Given the description of an element on the screen output the (x, y) to click on. 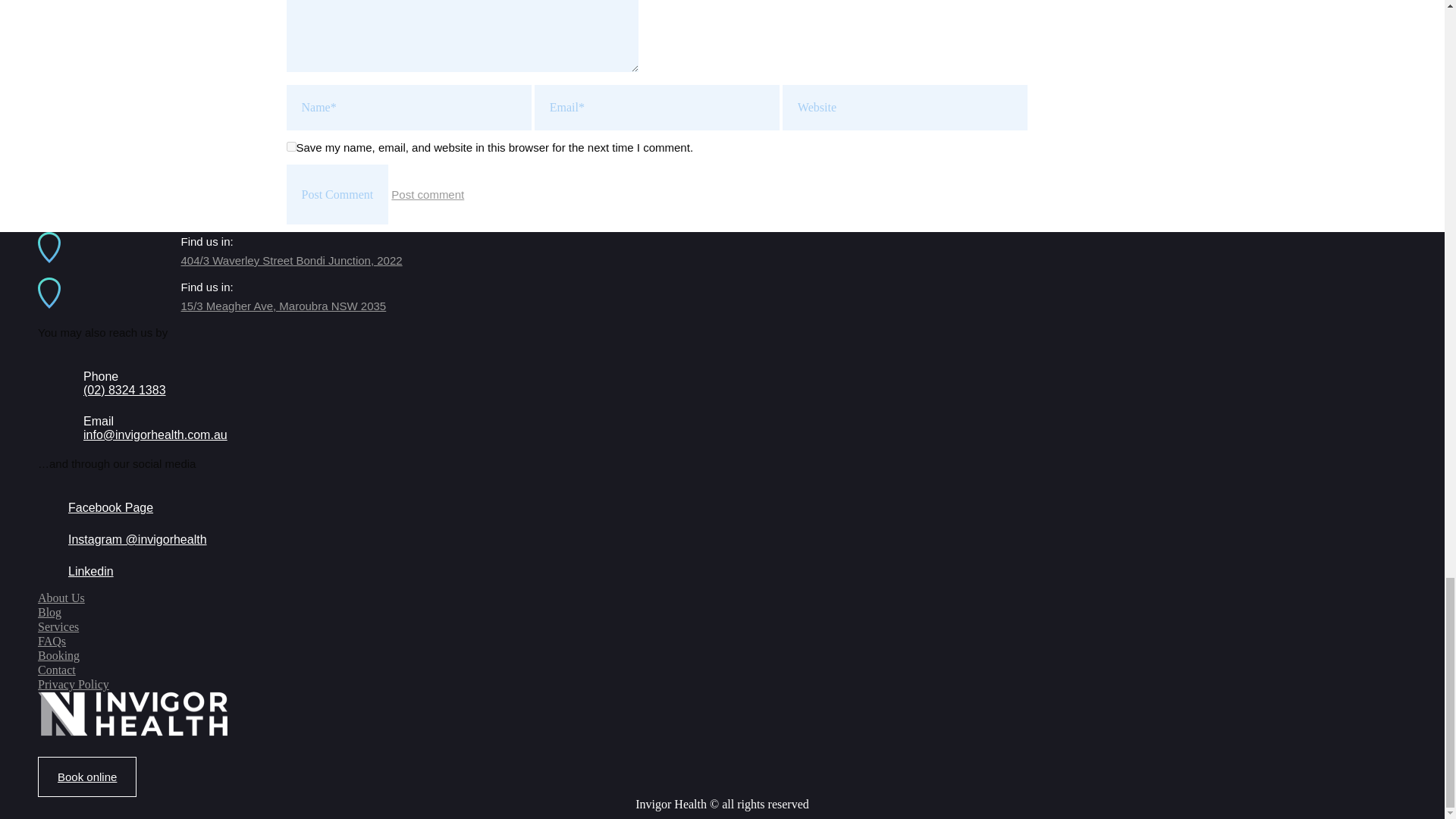
Post Comment (337, 194)
yes (291, 146)
Post comment (427, 194)
Post Comment (337, 194)
